Given the description of an element on the screen output the (x, y) to click on. 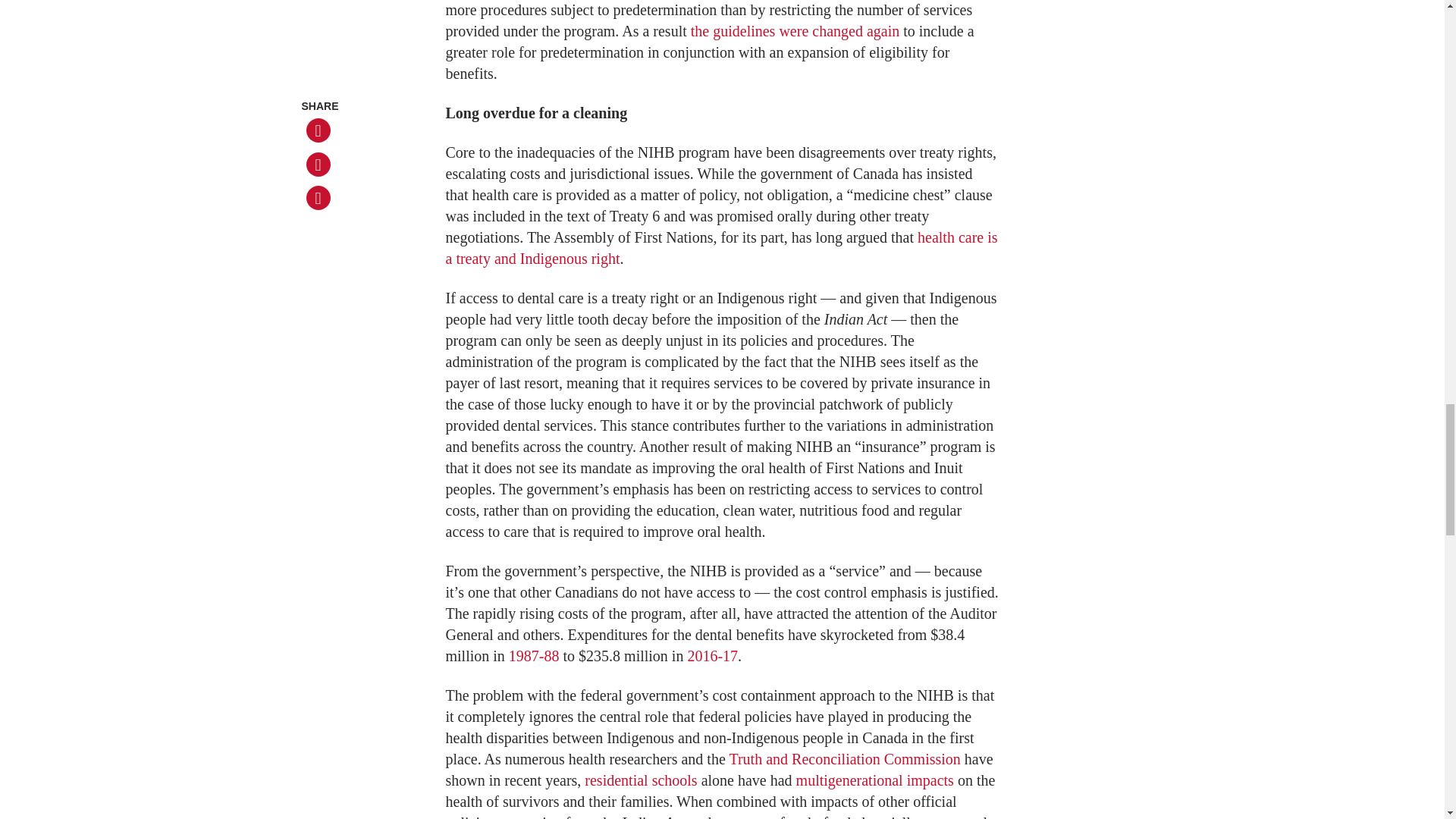
health care is a treaty and Indigenous right (721, 247)
the guidelines were changed again (794, 30)
